Given the description of an element on the screen output the (x, y) to click on. 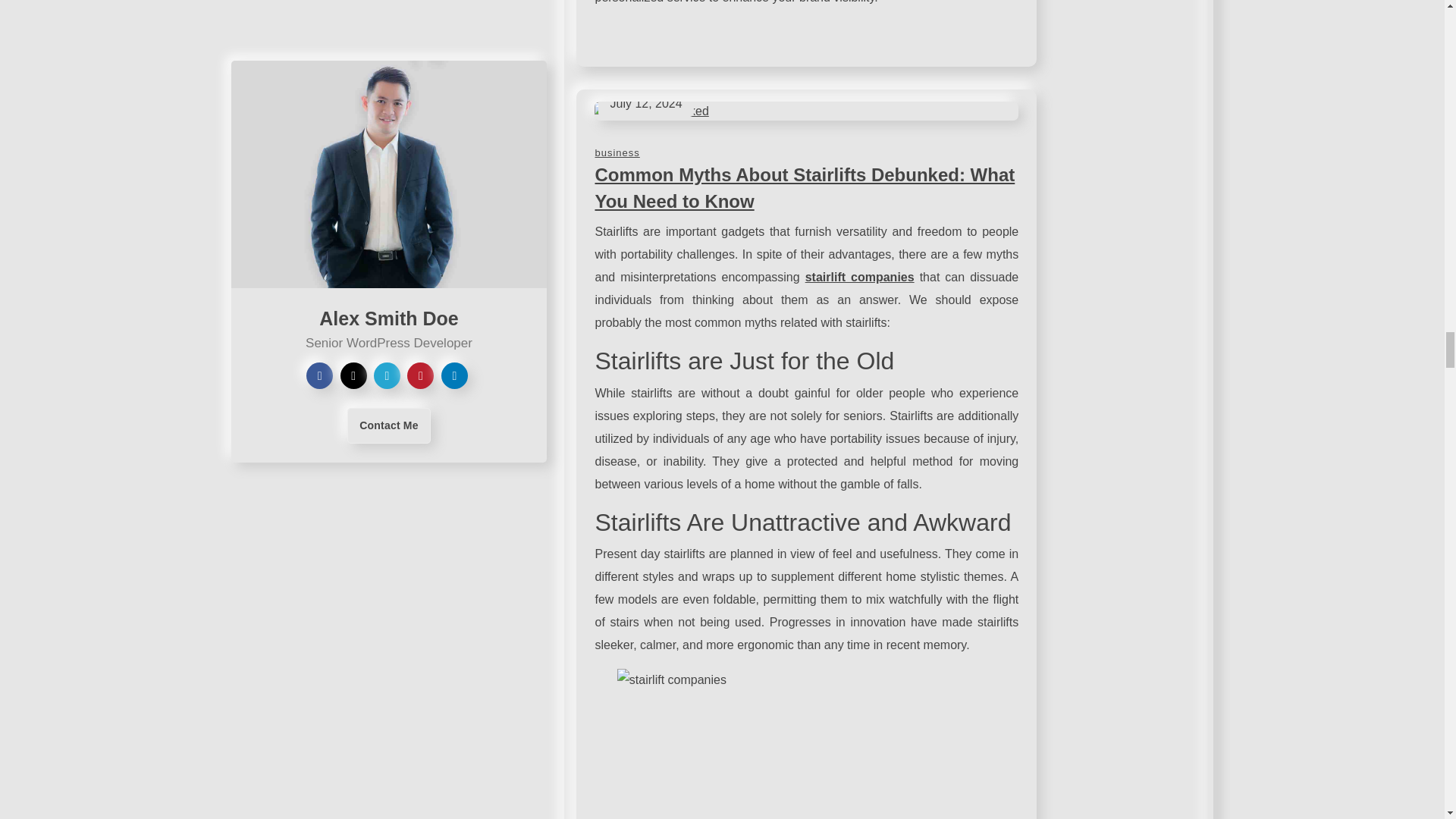
business (616, 152)
stairlift companies (859, 277)
